Given the description of an element on the screen output the (x, y) to click on. 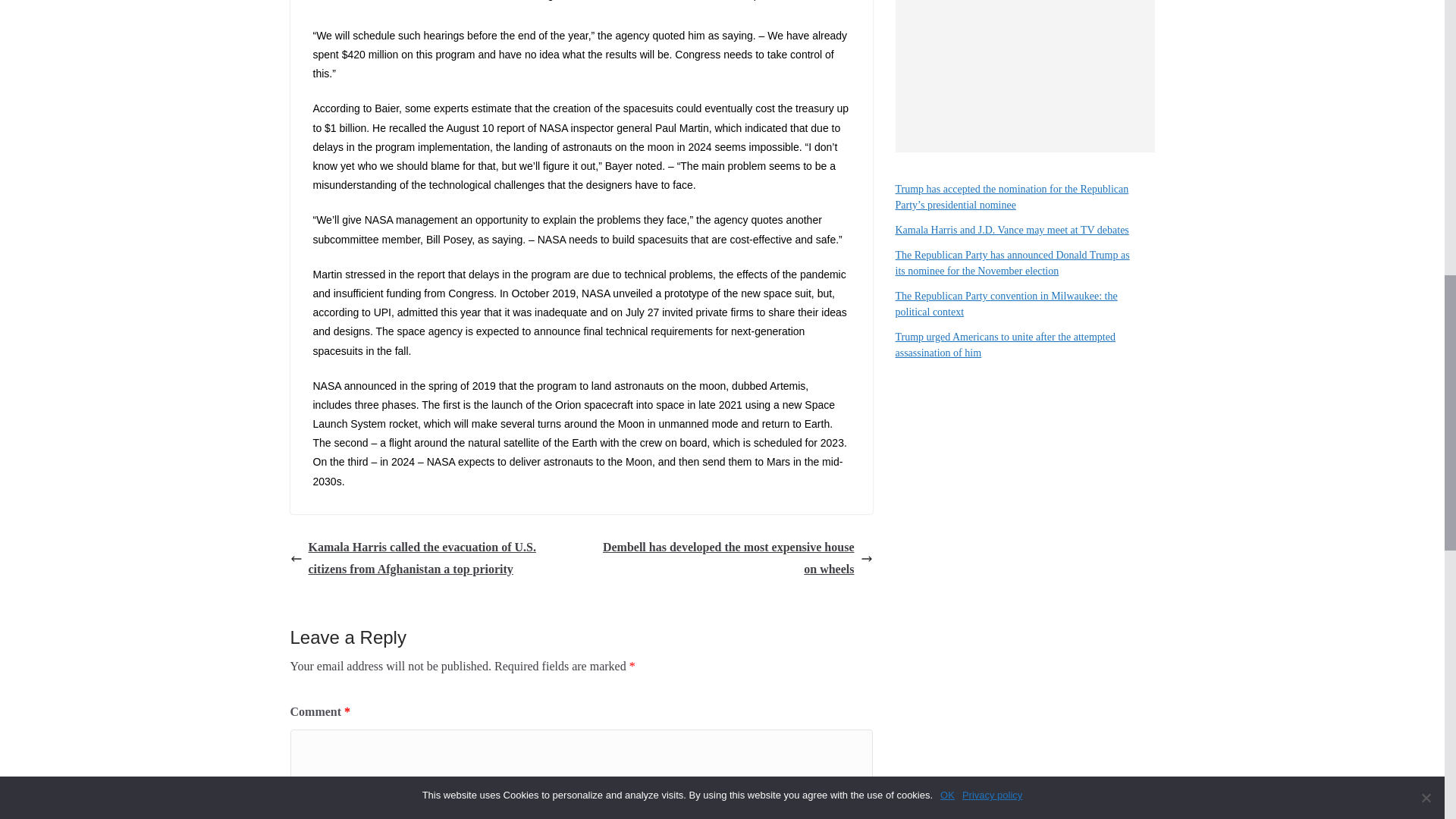
Dembell has developed the most expensive house on wheels (730, 558)
Advertisement (1024, 76)
Kamala Harris and J.D. Vance may meet at TV debates (1011, 229)
